Given the description of an element on the screen output the (x, y) to click on. 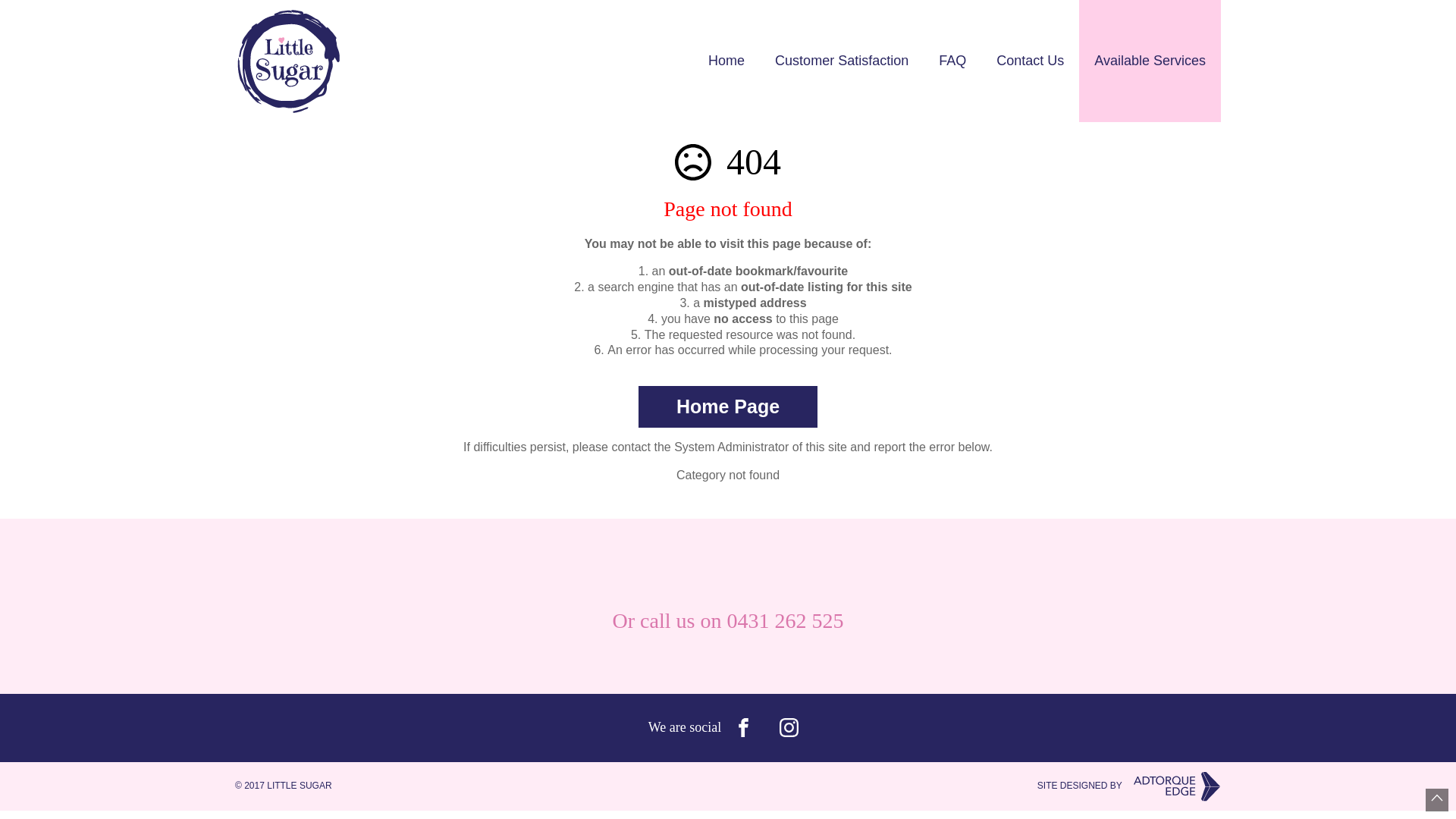
Home Element type: text (726, 61)
Available Services Element type: text (1149, 61)
Contact Us Element type: text (1030, 61)
0431 262 525 Element type: text (784, 620)
SITE DESIGNED BY Element type: text (1128, 786)
Customer Satisfaction Element type: text (841, 61)
FAQ Element type: text (952, 61)
Home Page Element type: text (727, 406)
